Given the description of an element on the screen output the (x, y) to click on. 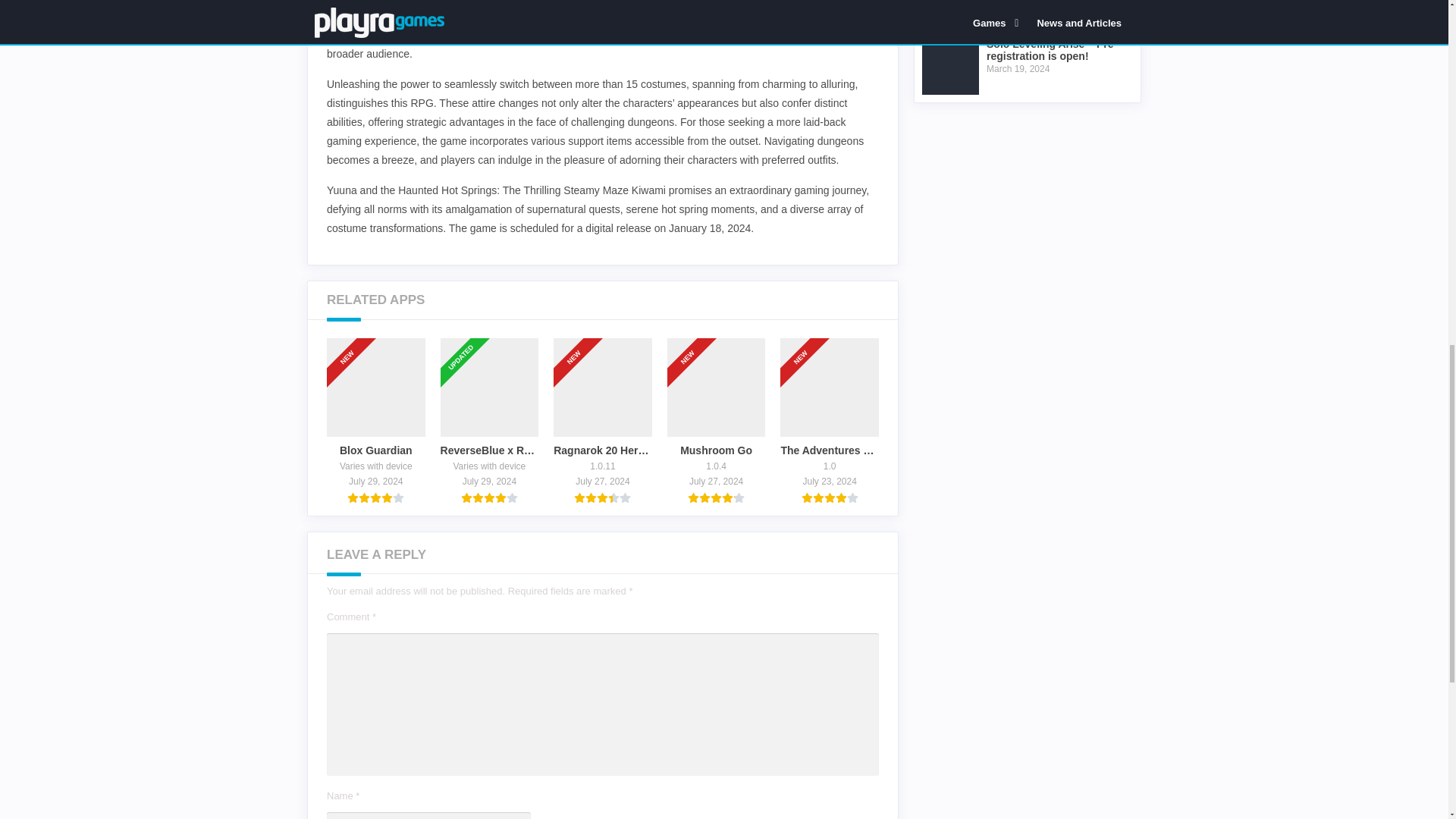
New (806, 332)
New (694, 332)
New (579, 332)
New (353, 332)
Updated (466, 332)
